Given the description of an element on the screen output the (x, y) to click on. 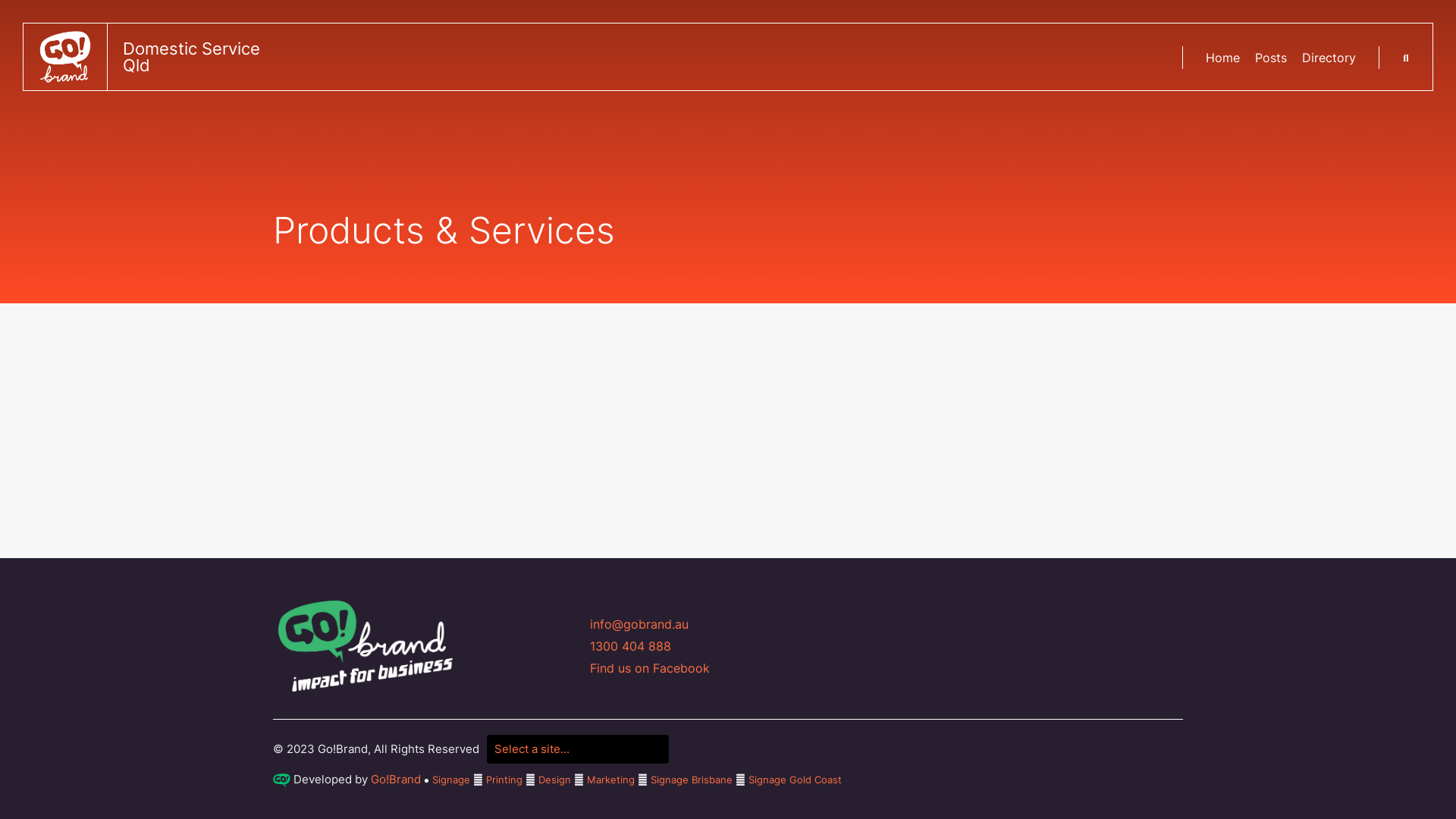
Go!Brand Element type: text (395, 778)
Select a site... Element type: text (577, 748)
 1300 404 888 Element type: text (628, 645)
Design Element type: text (554, 779)
Domestic Service Qld Element type: text (159, 56)
Signage Gold Coast Element type: text (794, 779)
 Find us on Facebook Element type: text (647, 667)
Printing Element type: text (504, 779)
Signage Element type: text (451, 779)
Directory Element type: text (1328, 57)
Signage Brisbane Element type: text (691, 779)
 info@gobrand.au Element type: text (637, 623)
Posts Element type: text (1270, 57)
Home Element type: text (1222, 57)
Marketing Element type: text (610, 779)
